Given the description of an element on the screen output the (x, y) to click on. 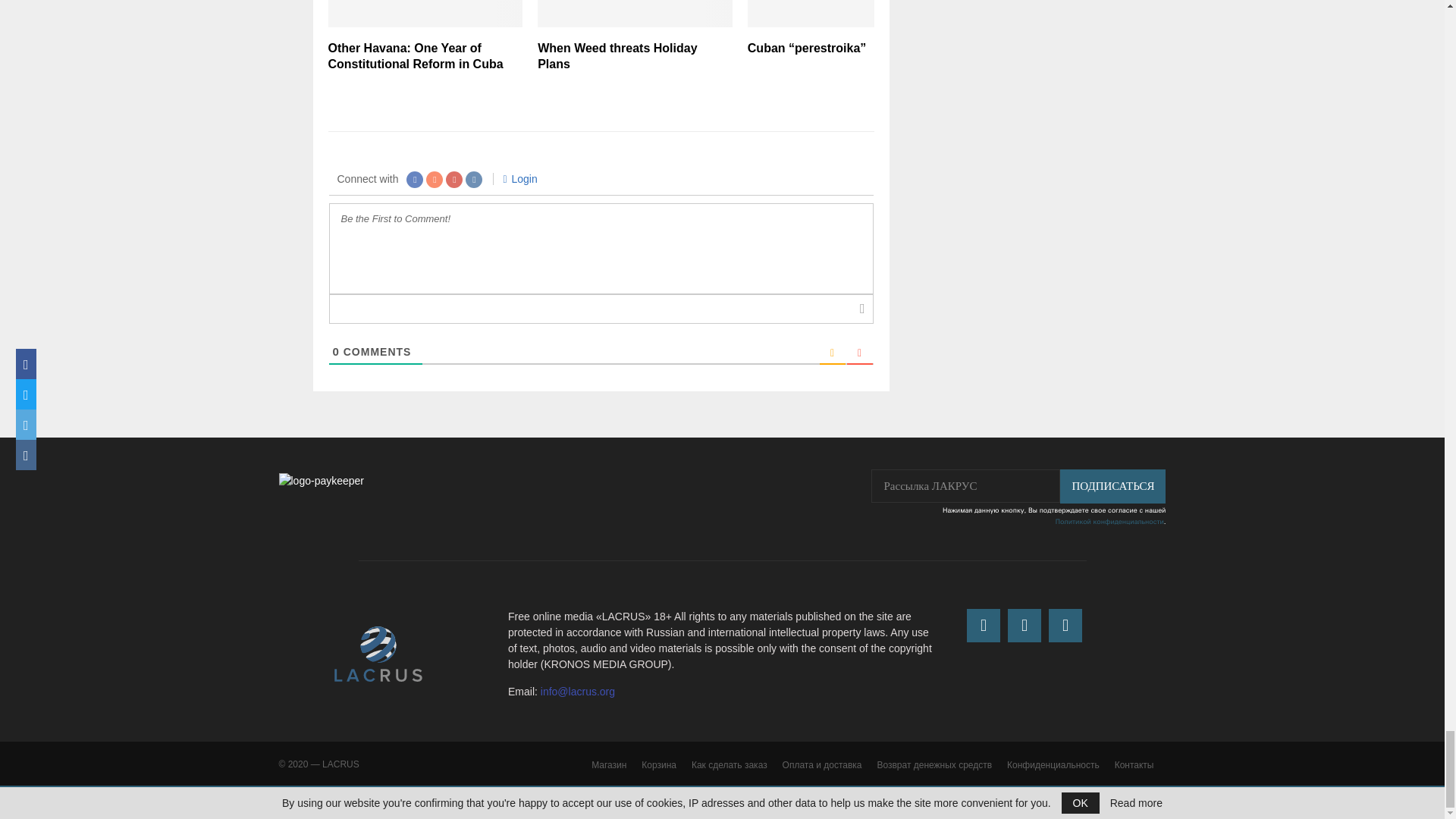
Other Havana: One Year of Constitutional Reform in Cuba (414, 55)
